Given the description of an element on the screen output the (x, y) to click on. 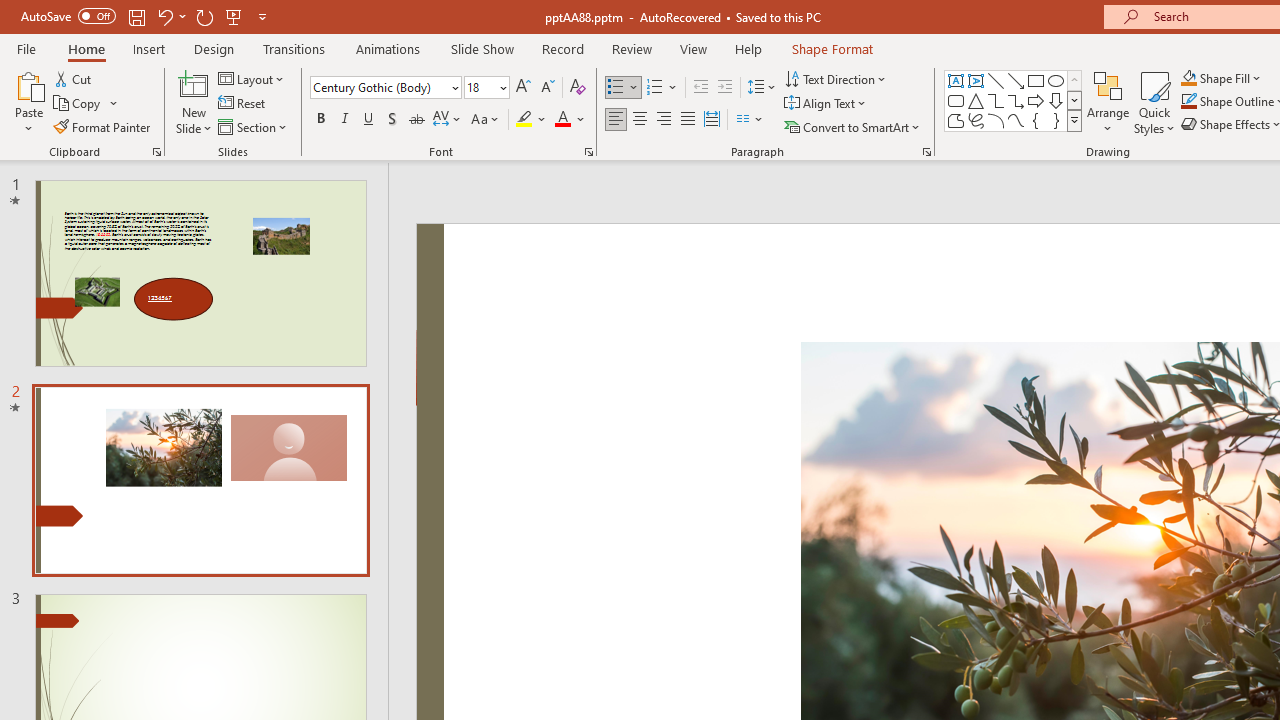
Bullets (616, 87)
Slide (200, 480)
Freeform: Scribble (975, 120)
Shape Format (832, 48)
Row Down (1074, 100)
Class: NetUIImage (1075, 120)
Font Color (569, 119)
Decrease Font Size (547, 87)
Layout (252, 78)
Quick Styles (1154, 102)
Line Spacing (762, 87)
Freeform: Shape (955, 120)
Row up (1074, 79)
